Given the description of an element on the screen output the (x, y) to click on. 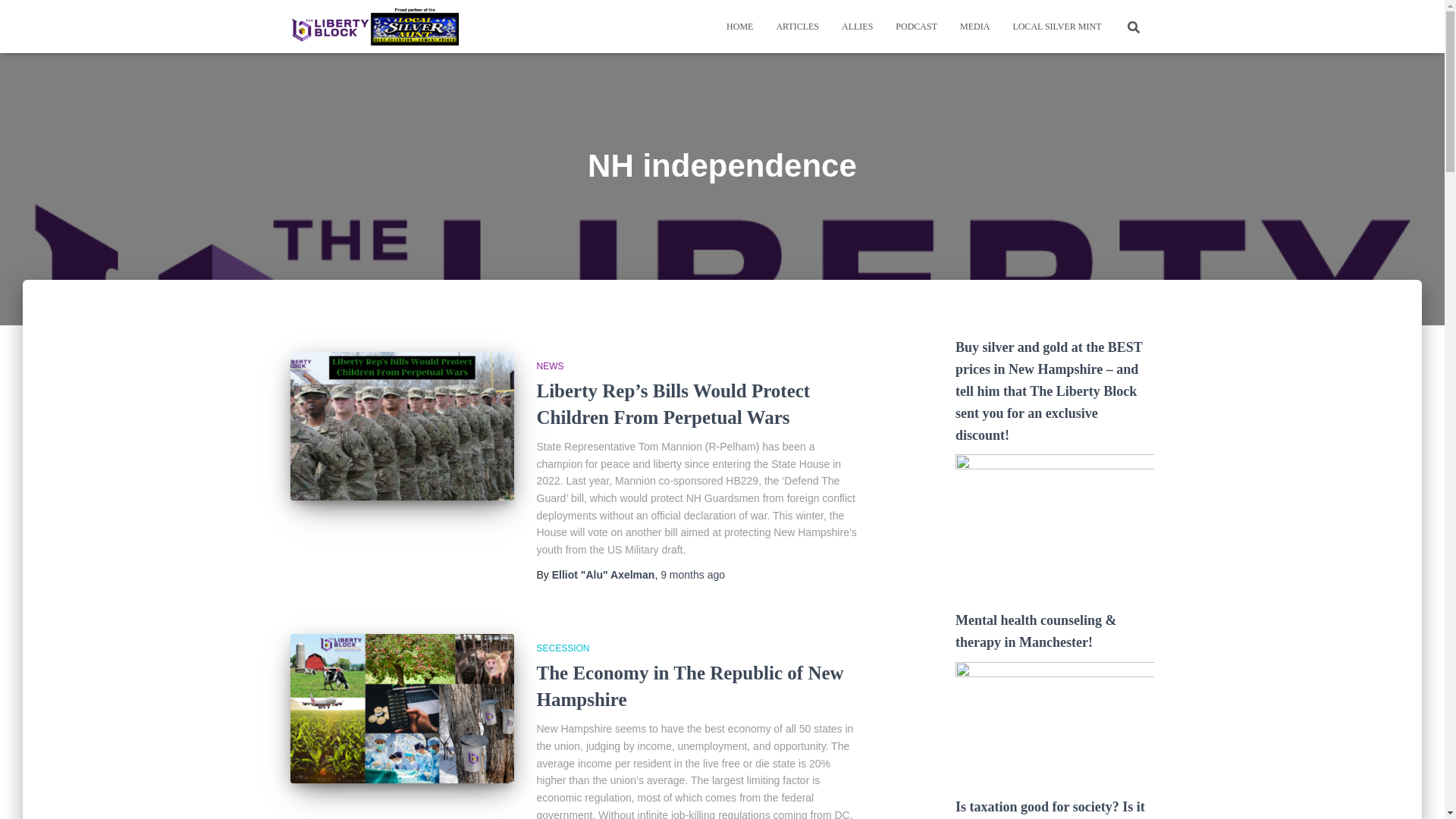
SECESSION (563, 647)
The Liberty Block (374, 26)
Local Silver Mint (1056, 26)
The Economy in The Republic of New Hampshire (690, 686)
ARTICLES (796, 26)
Elliot "Alu" Axelman (603, 574)
9 months ago (693, 574)
HOME (739, 26)
PODCAST (916, 26)
Home (739, 26)
NEWS (550, 366)
Podcast (916, 26)
Elliot "Alu" Axelman (603, 574)
Media (975, 26)
MEDIA (975, 26)
